Given the description of an element on the screen output the (x, y) to click on. 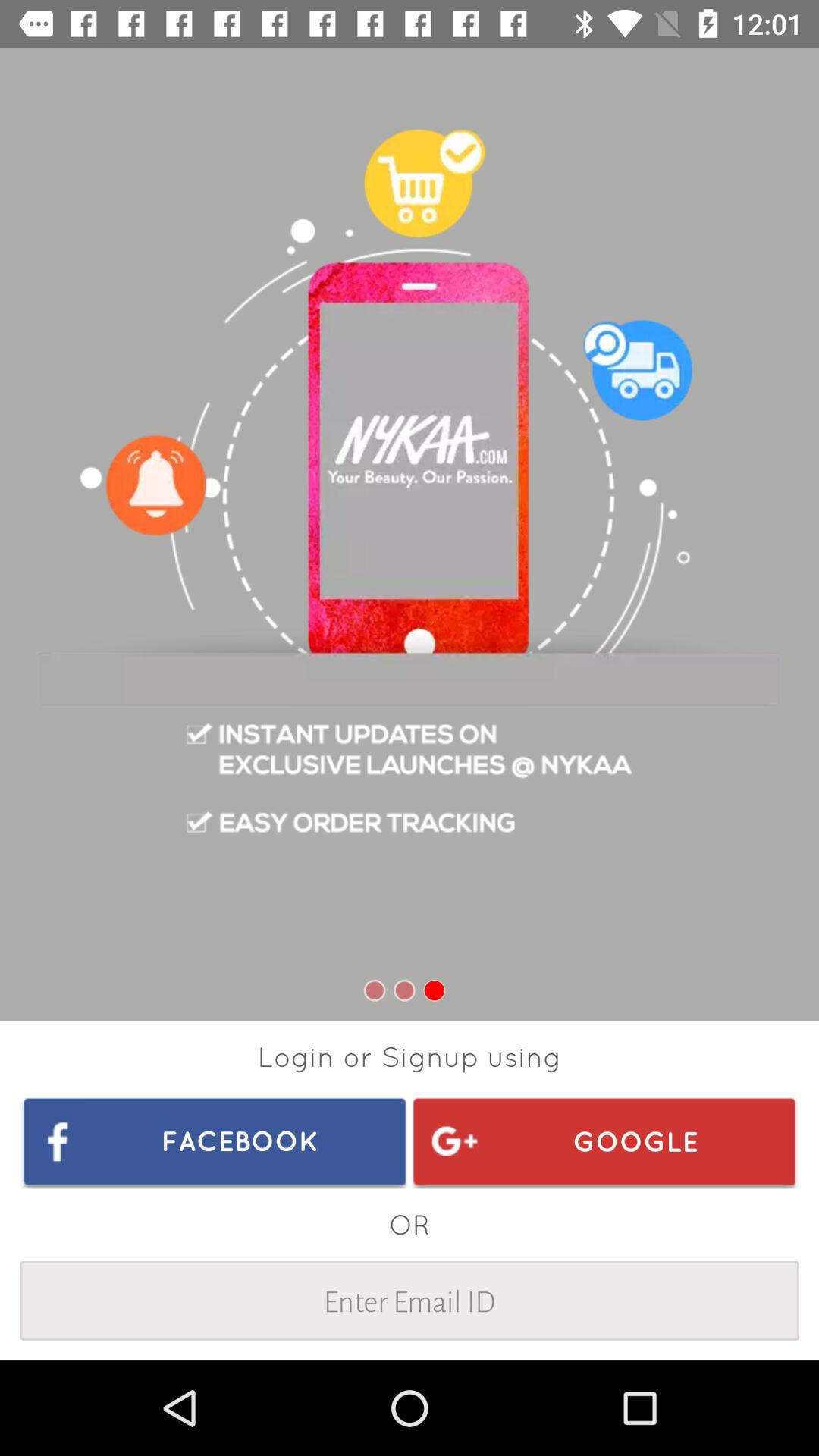
jump until enter email id (409, 1300)
